Given the description of an element on the screen output the (x, y) to click on. 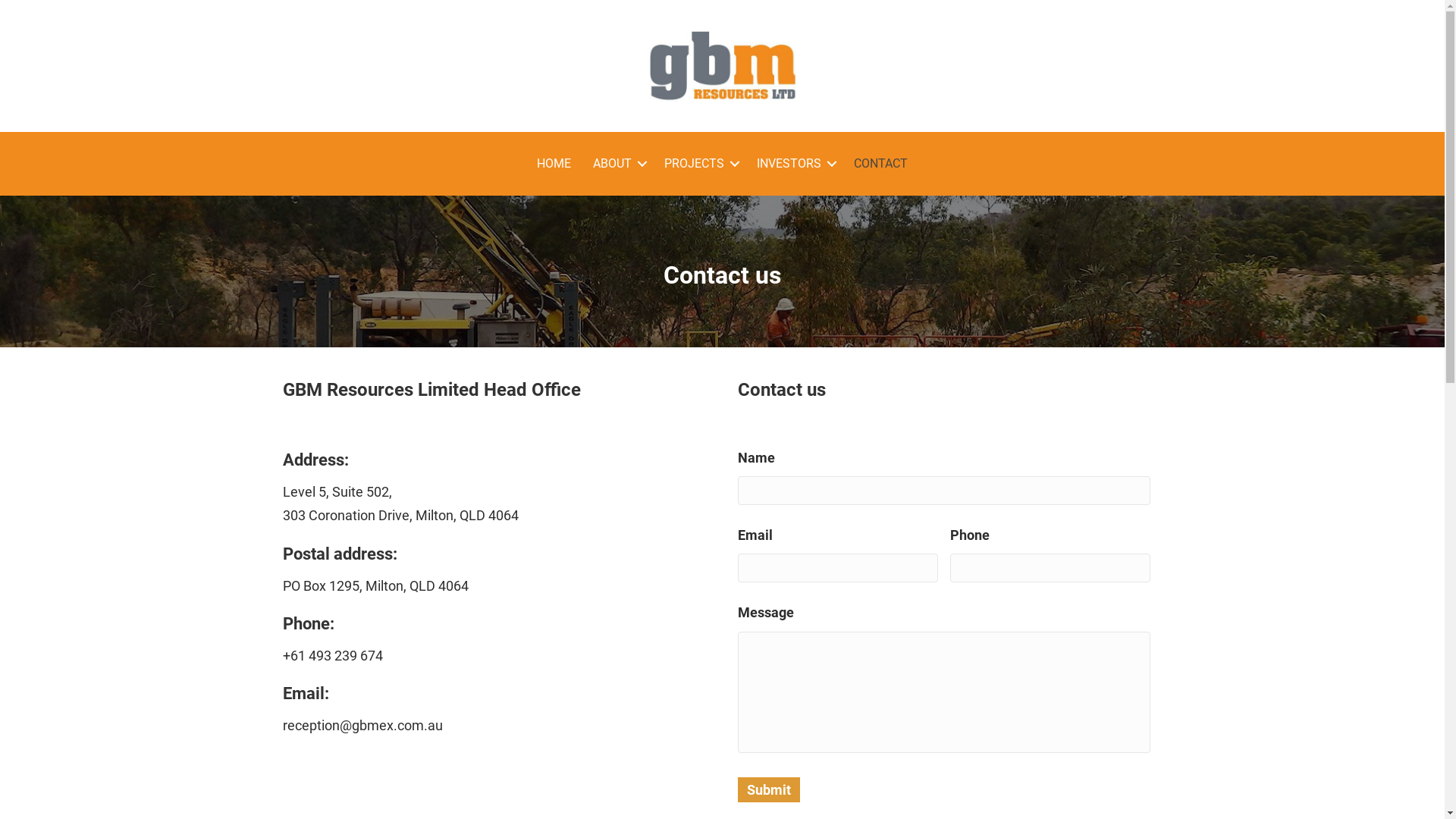
HOME Element type: text (553, 163)
Submit Element type: text (768, 789)
ABOUT Element type: text (617, 163)
GBM Element type: hover (721, 65)
CONTACT Element type: text (880, 163)
INVESTORS Element type: text (794, 163)
PROJECTS Element type: text (699, 163)
